Given the description of an element on the screen output the (x, y) to click on. 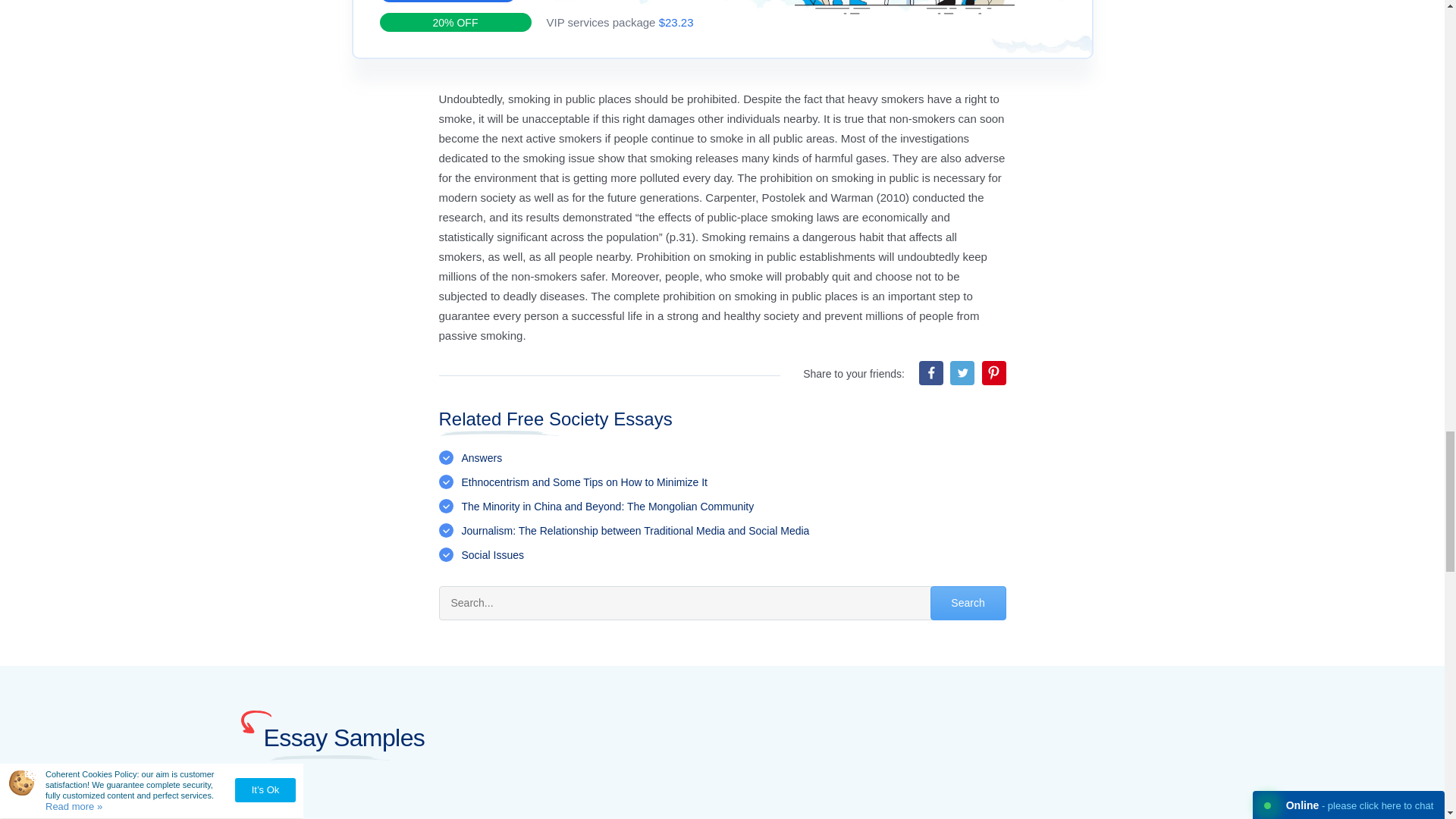
Share on Facebook (930, 372)
Answers (481, 458)
Answers (481, 458)
Ethnocentrism and Some Tips on How to Minimize It (583, 481)
Social Issues (491, 554)
Search (968, 602)
Ethnocentrism and Some Tips on How to Minimize It (583, 481)
Share on Twitter (962, 372)
Share on Pinterest (993, 372)
